Given the description of an element on the screen output the (x, y) to click on. 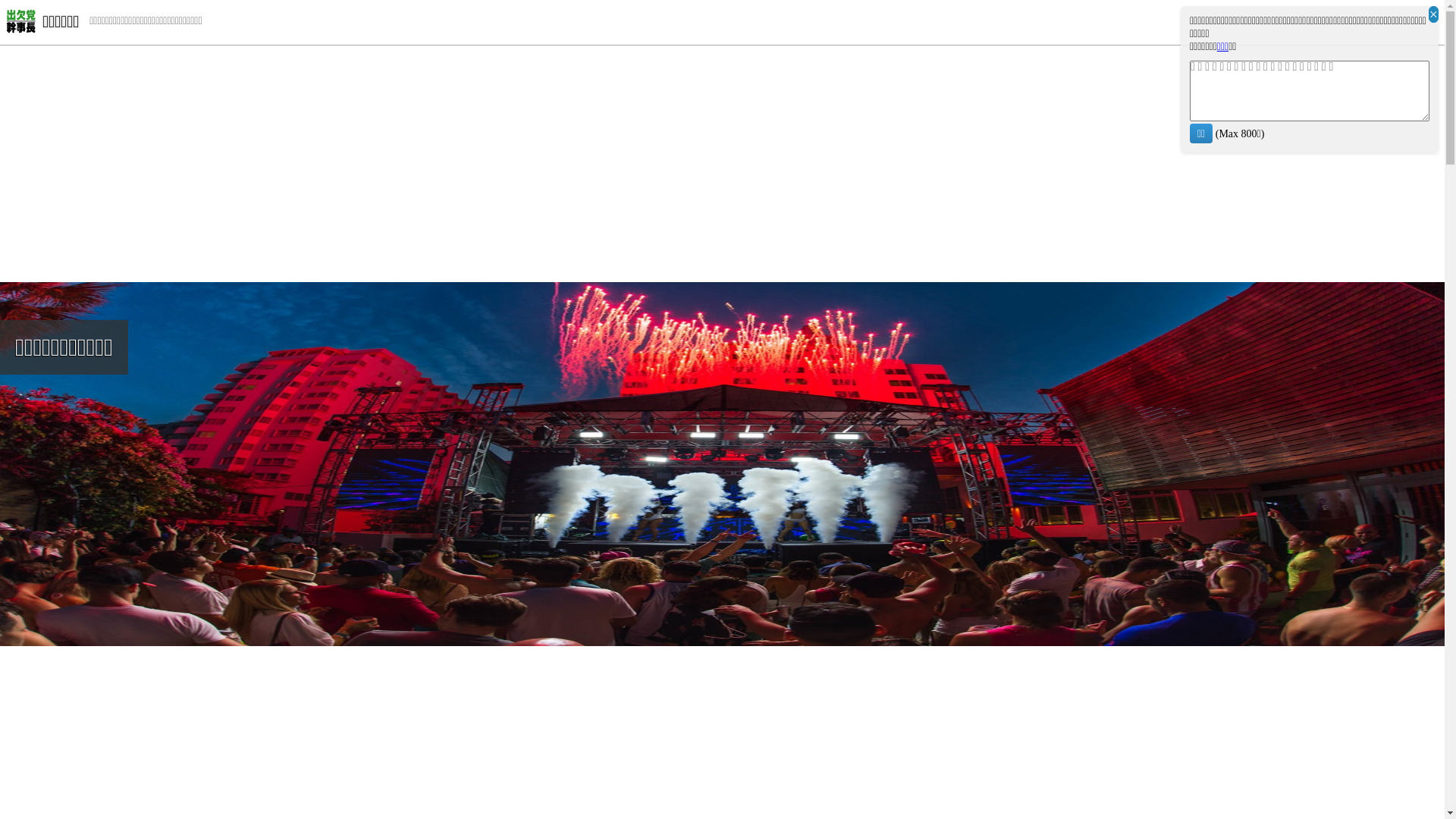
Advertisement Element type: hover (721, 163)
